Given the description of an element on the screen output the (x, y) to click on. 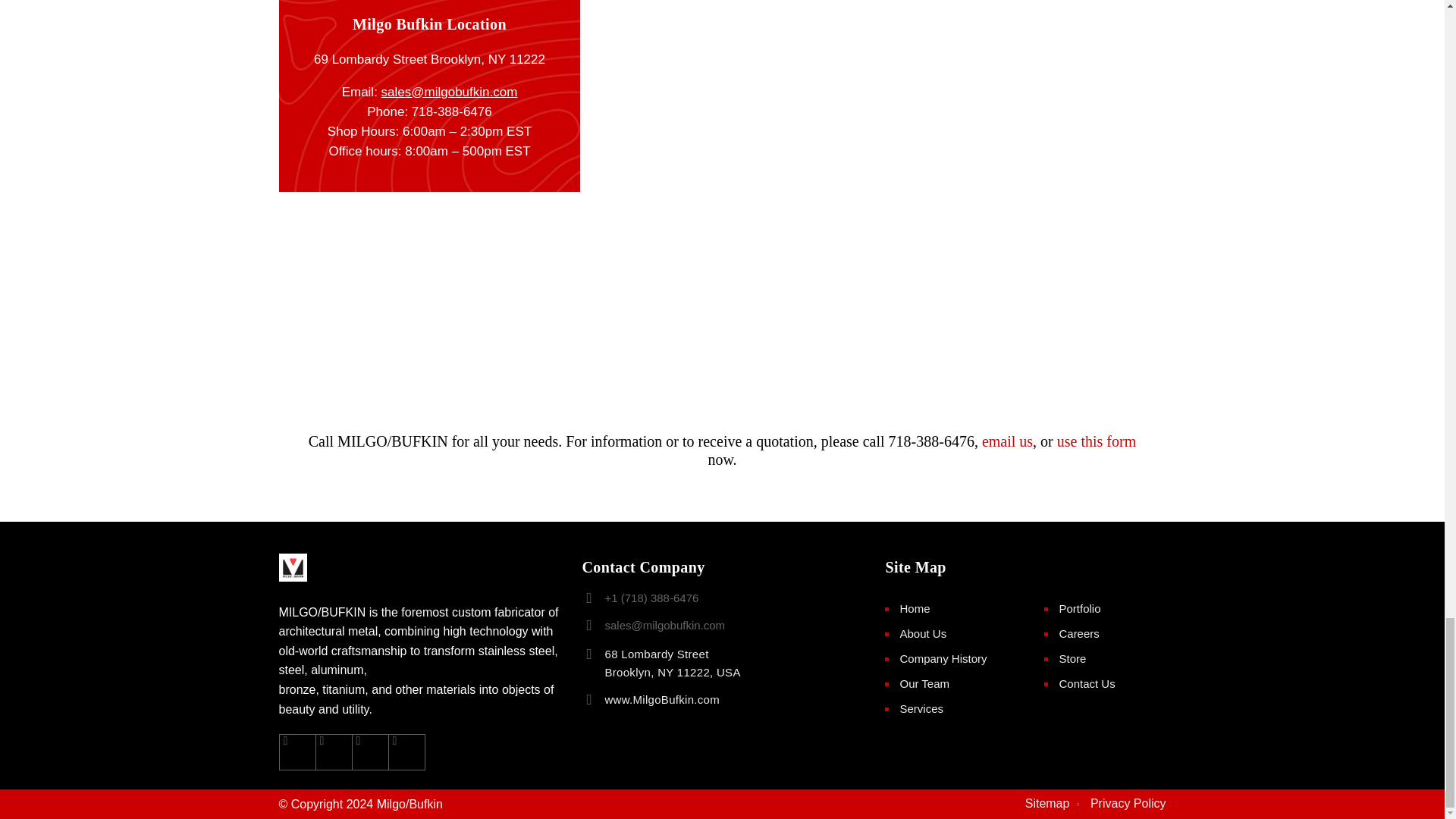
718-388-6476 (452, 111)
Company History (943, 658)
use this form (1096, 441)
Our Team (924, 684)
www.MilgoBufkin.com (671, 662)
Home (661, 698)
Services (914, 608)
email us (921, 708)
About Us (1006, 441)
